Given the description of an element on the screen output the (x, y) to click on. 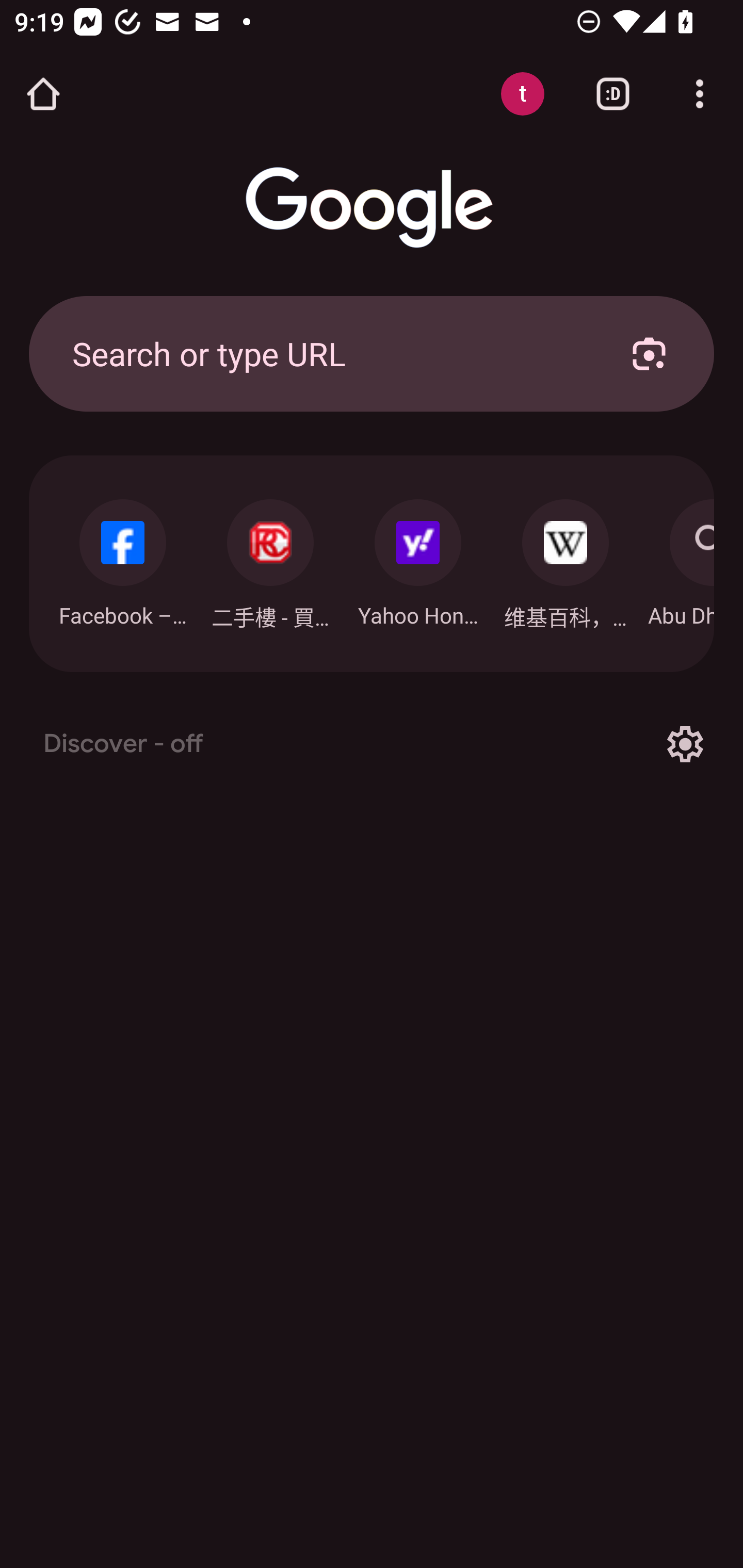
Open the home page (43, 93)
Switch or close tabs (612, 93)
Customize and control Google Chrome (699, 93)
Search or type URL (327, 353)
Search with your camera using Google Lens (648, 353)
Options for Discover (684, 743)
